Given the description of an element on the screen output the (x, y) to click on. 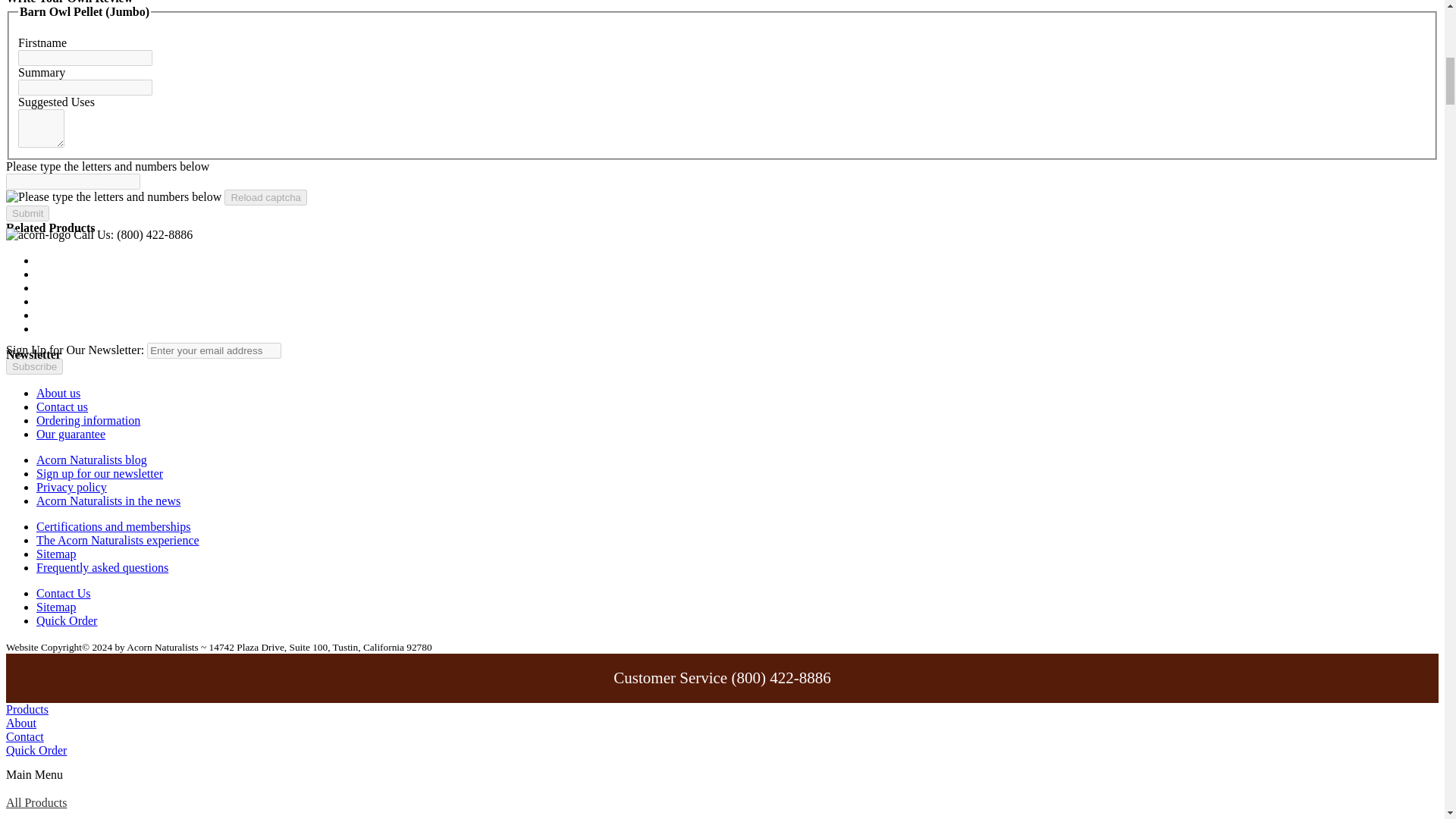
Submit (27, 213)
Reload captcha (265, 197)
Reload captcha (265, 197)
